Given the description of an element on the screen output the (x, y) to click on. 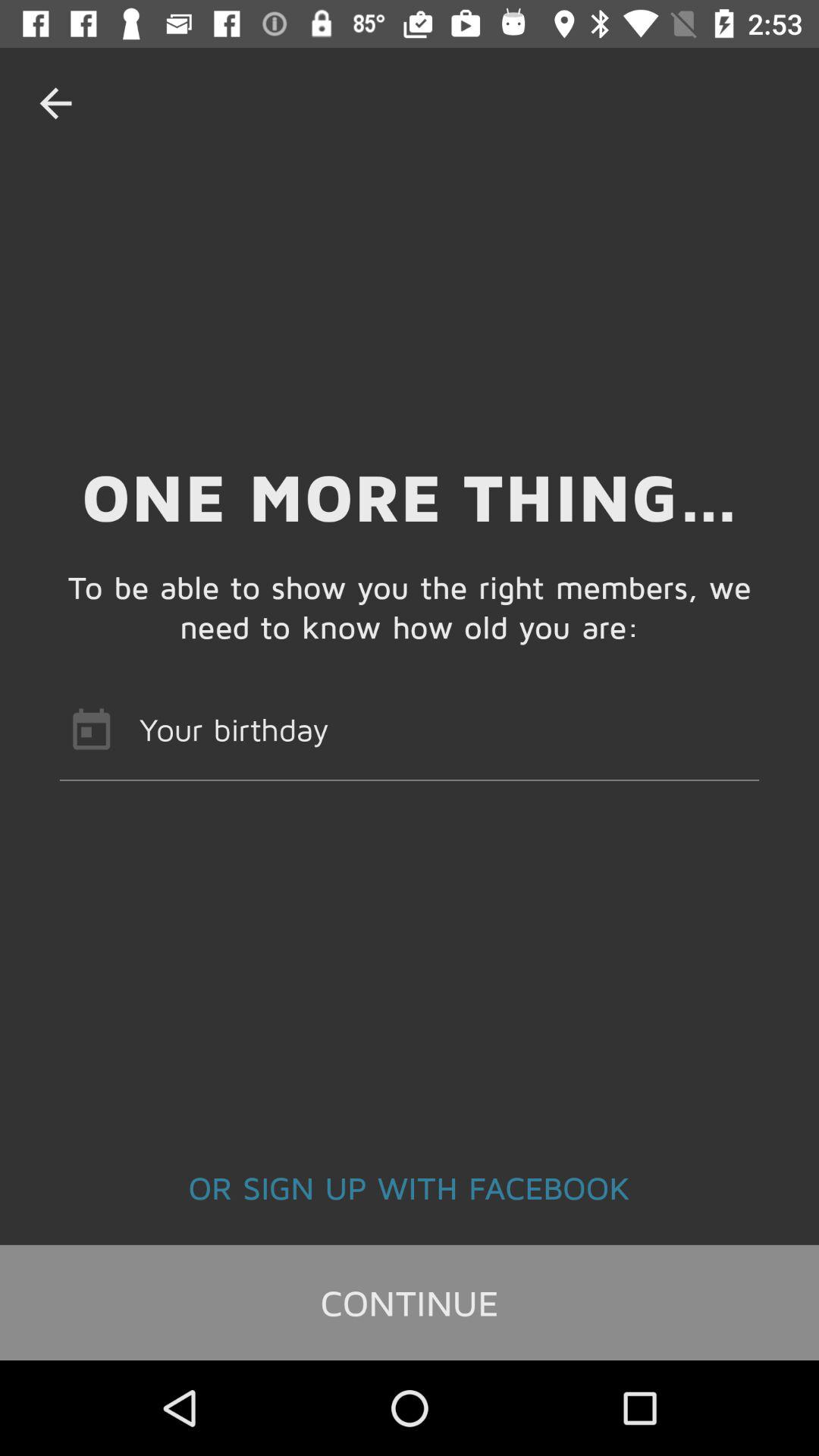
open item at the top left corner (55, 103)
